Given the description of an element on the screen output the (x, y) to click on. 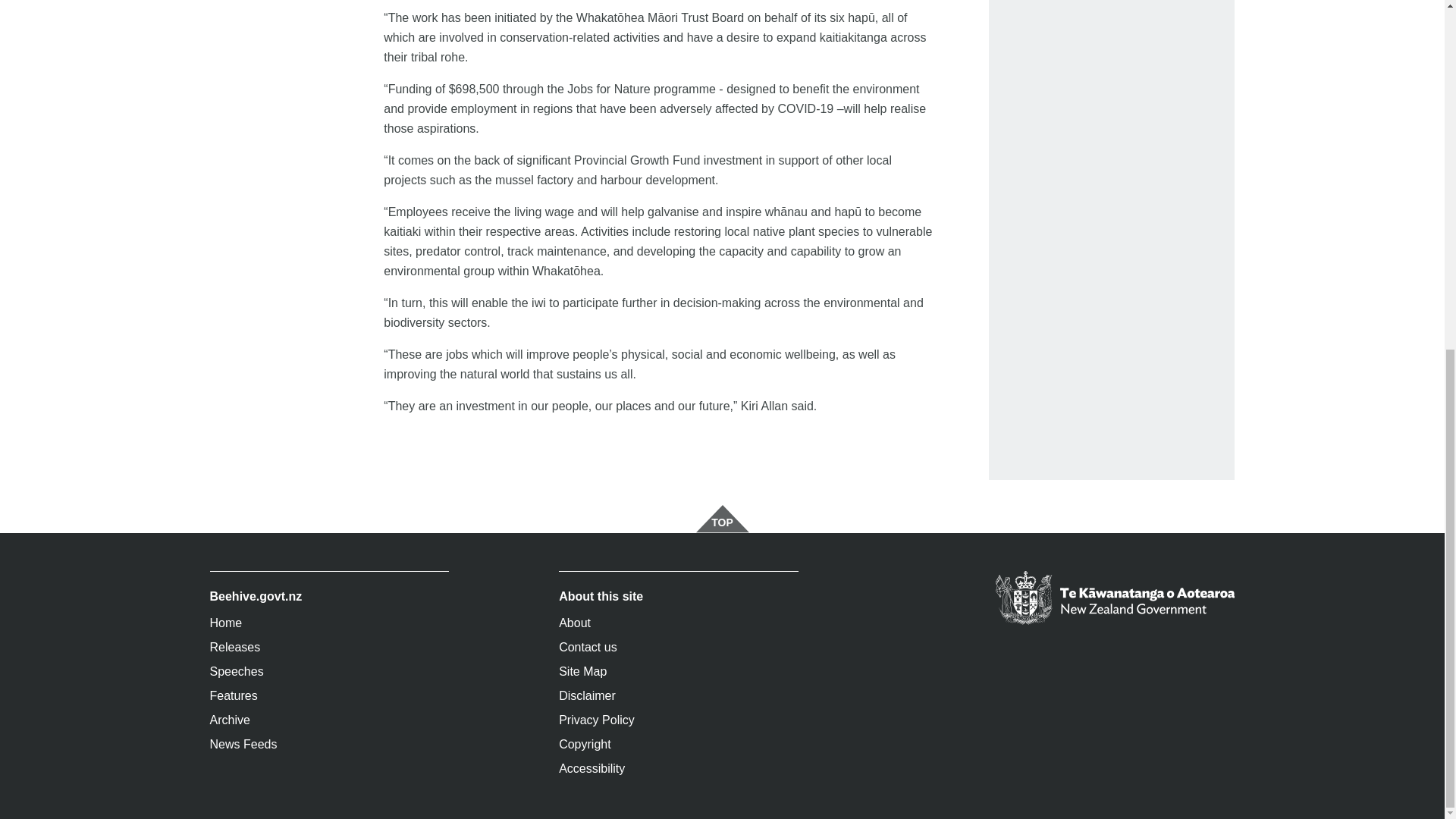
Releases (328, 647)
Disclaimer (678, 695)
News Feeds (328, 744)
Speeches (328, 671)
Archive (328, 720)
Back to top of page (722, 519)
Copyright (678, 744)
Privacy Policy (678, 720)
Site Map (678, 671)
About (678, 622)
